Given the description of an element on the screen output the (x, y) to click on. 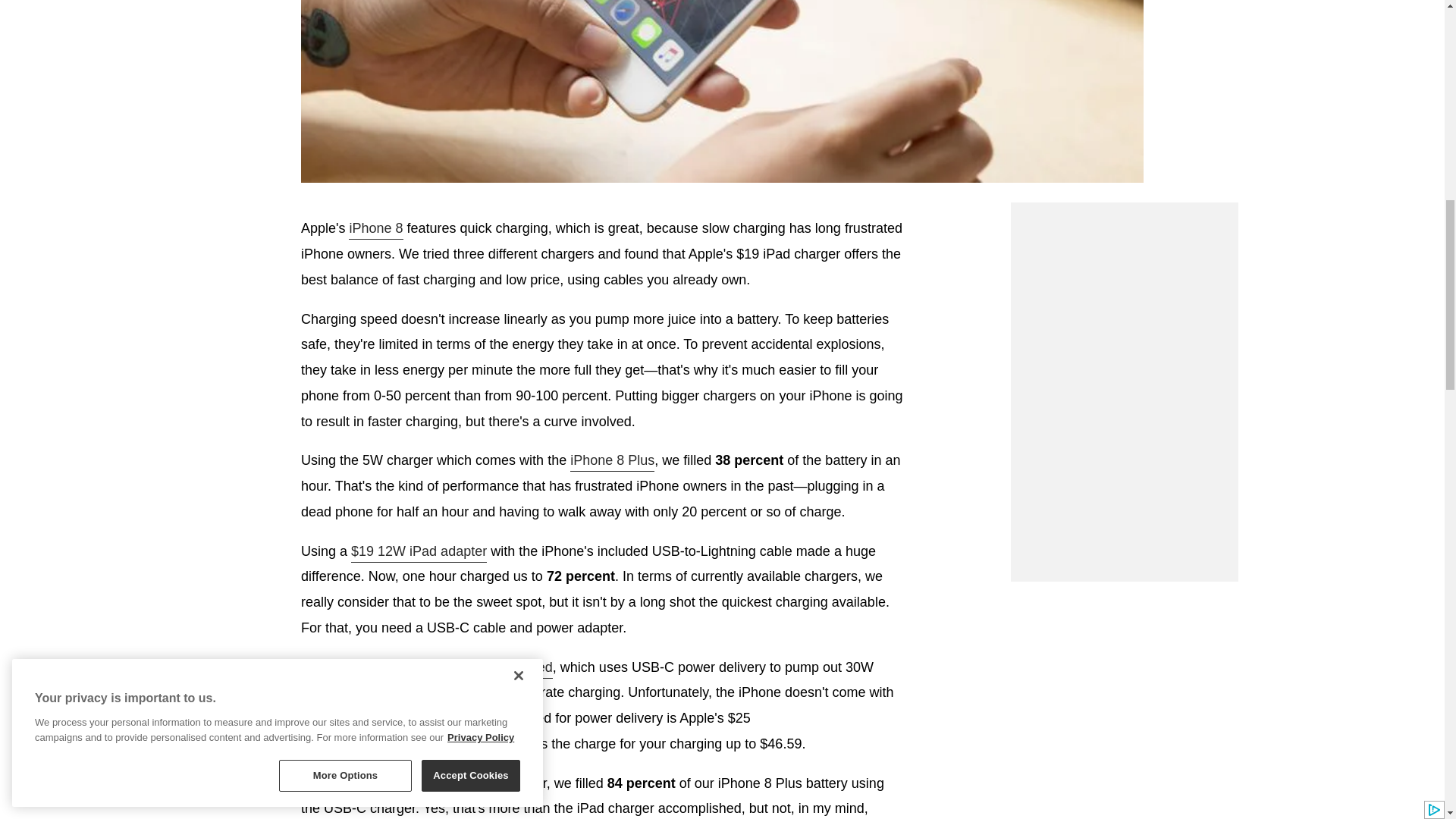
3rd party ad content (1123, 297)
3rd party ad content (1123, 486)
